Given the description of an element on the screen output the (x, y) to click on. 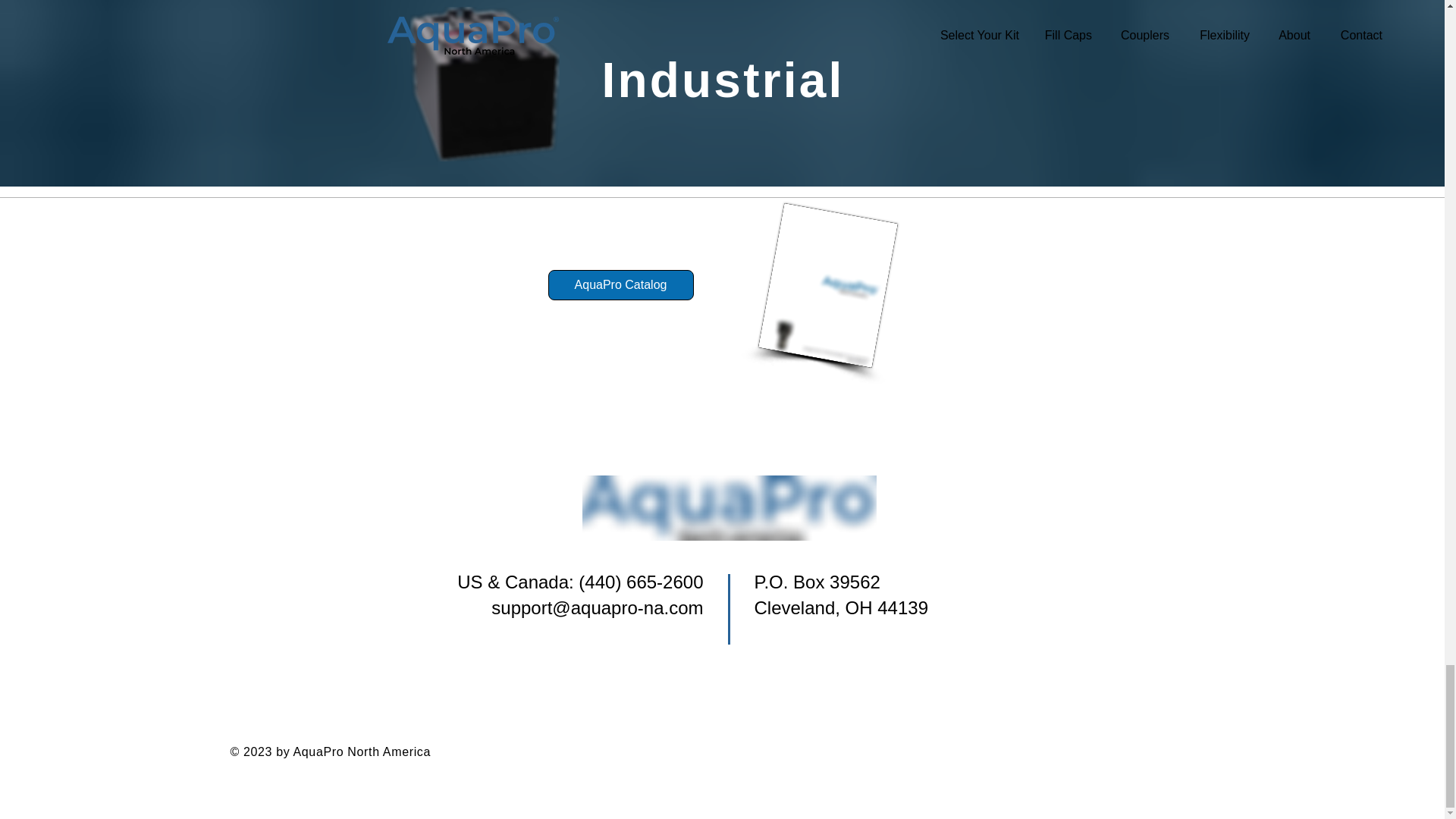
AquaPro Catalog (620, 285)
Aquapro NA Logo.png (729, 507)
Industrial (723, 83)
